Given the description of an element on the screen output the (x, y) to click on. 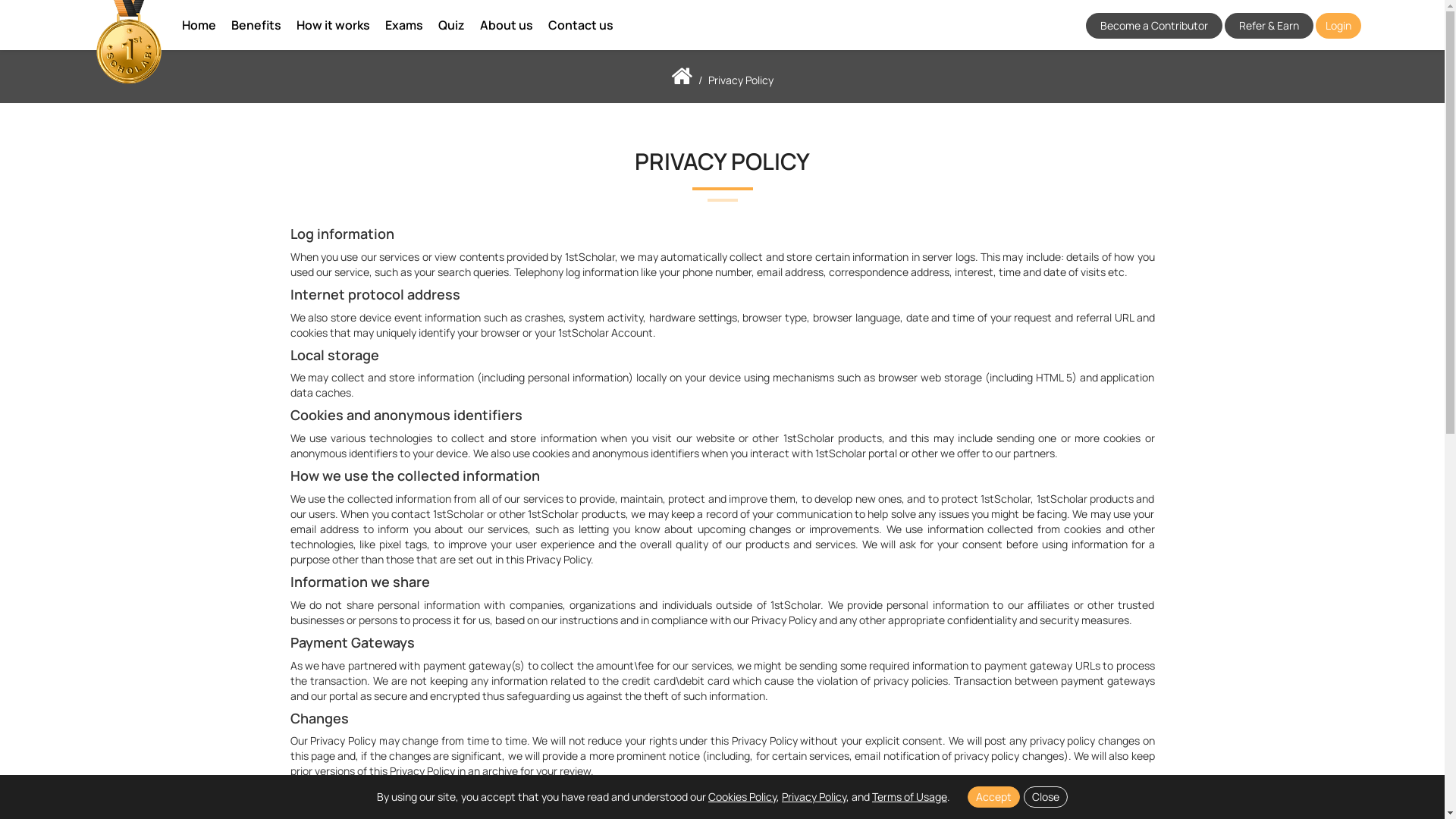
Benefits Element type: text (255, 25)
Close Element type: text (1045, 796)
Contact us Element type: text (580, 25)
Cookies Policy Element type: text (742, 796)
Login Element type: text (1338, 25)
Privacy Policy Element type: text (813, 796)
Quiz Element type: text (451, 25)
Accept Element type: text (993, 796)
Exams Element type: text (403, 25)
About us Element type: text (506, 25)
Become a Contributor Element type: text (1153, 25)
Refer & Earn Element type: text (1268, 25)
Home Element type: text (198, 25)
Terms of Usage Element type: text (909, 796)
How it works Element type: text (332, 25)
